Given the description of an element on the screen output the (x, y) to click on. 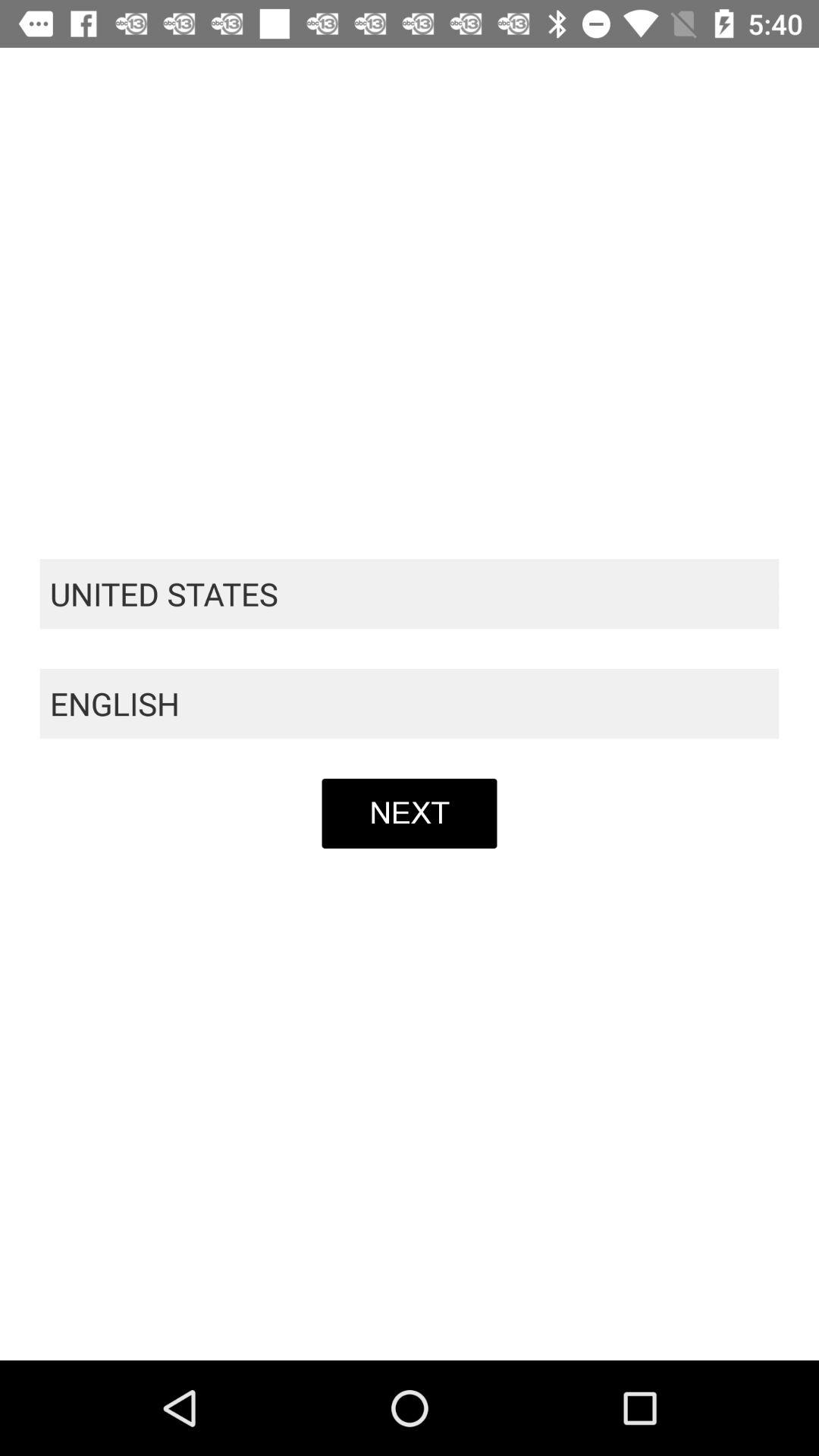
jump to next icon (409, 813)
